Given the description of an element on the screen output the (x, y) to click on. 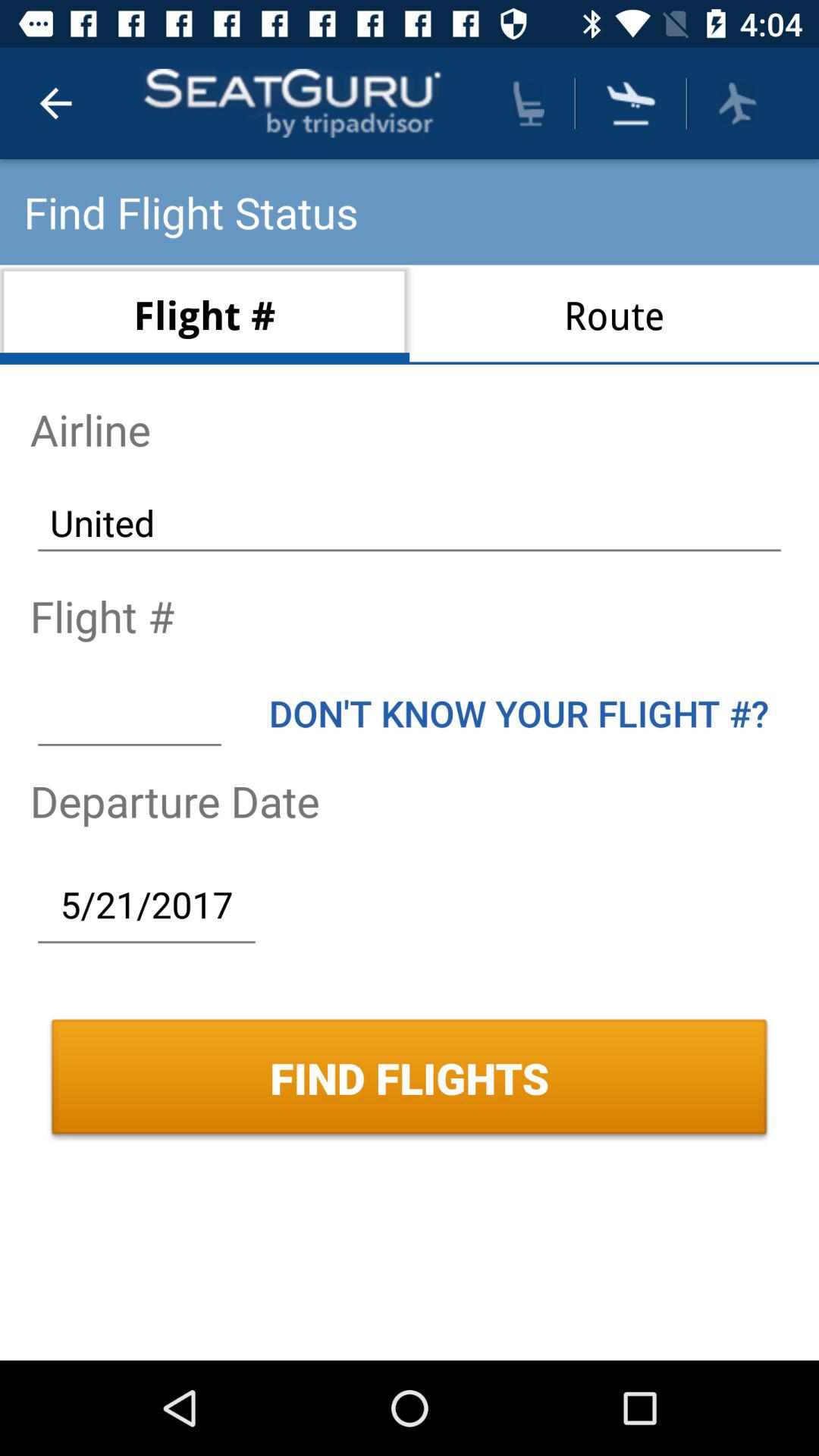
swipe until find flights icon (409, 1077)
